Given the description of an element on the screen output the (x, y) to click on. 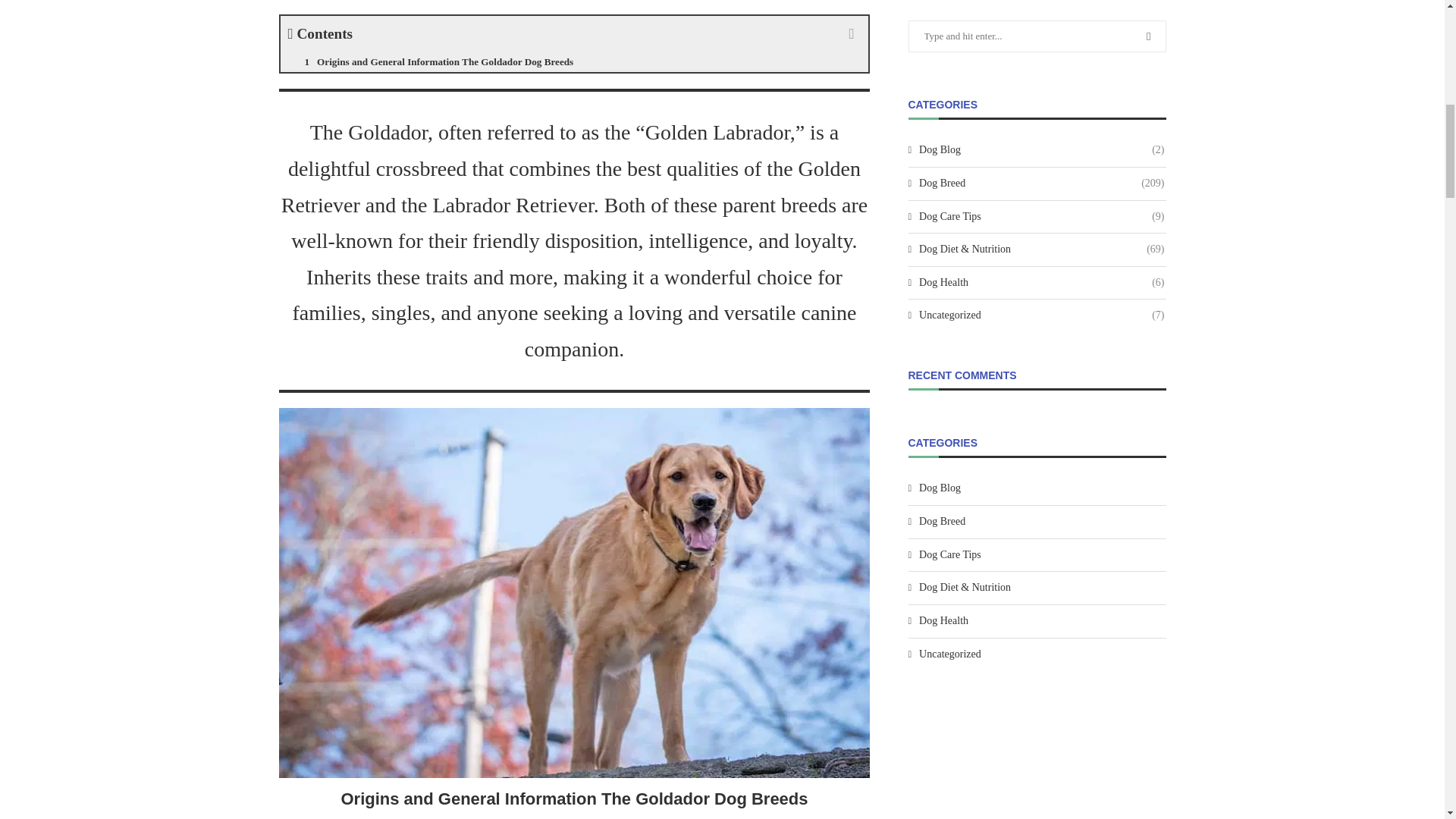
Origins and General Information The Goldador Dog Breeds (575, 62)
